Given the description of an element on the screen output the (x, y) to click on. 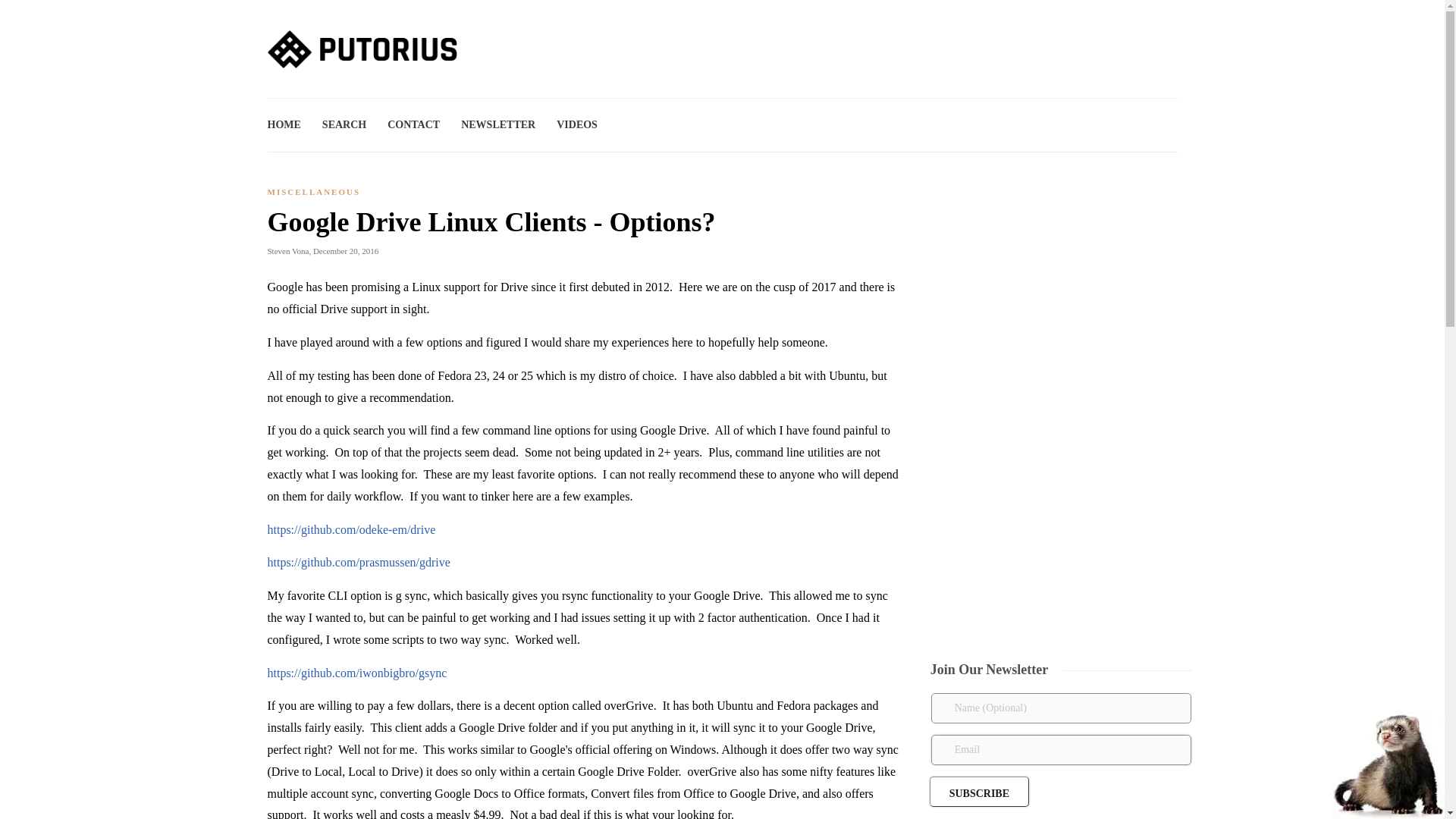
Google Drive Linux Clients - Options? (573, 226)
MISCELLANEOUS (312, 191)
HOME (282, 124)
CONTACT (413, 124)
Subscribe (979, 791)
SEARCH (343, 124)
VIDEOS (576, 124)
December 20, 2016 (345, 250)
NEWSLETTER (498, 124)
Steven Vona (287, 250)
